Given the description of an element on the screen output the (x, y) to click on. 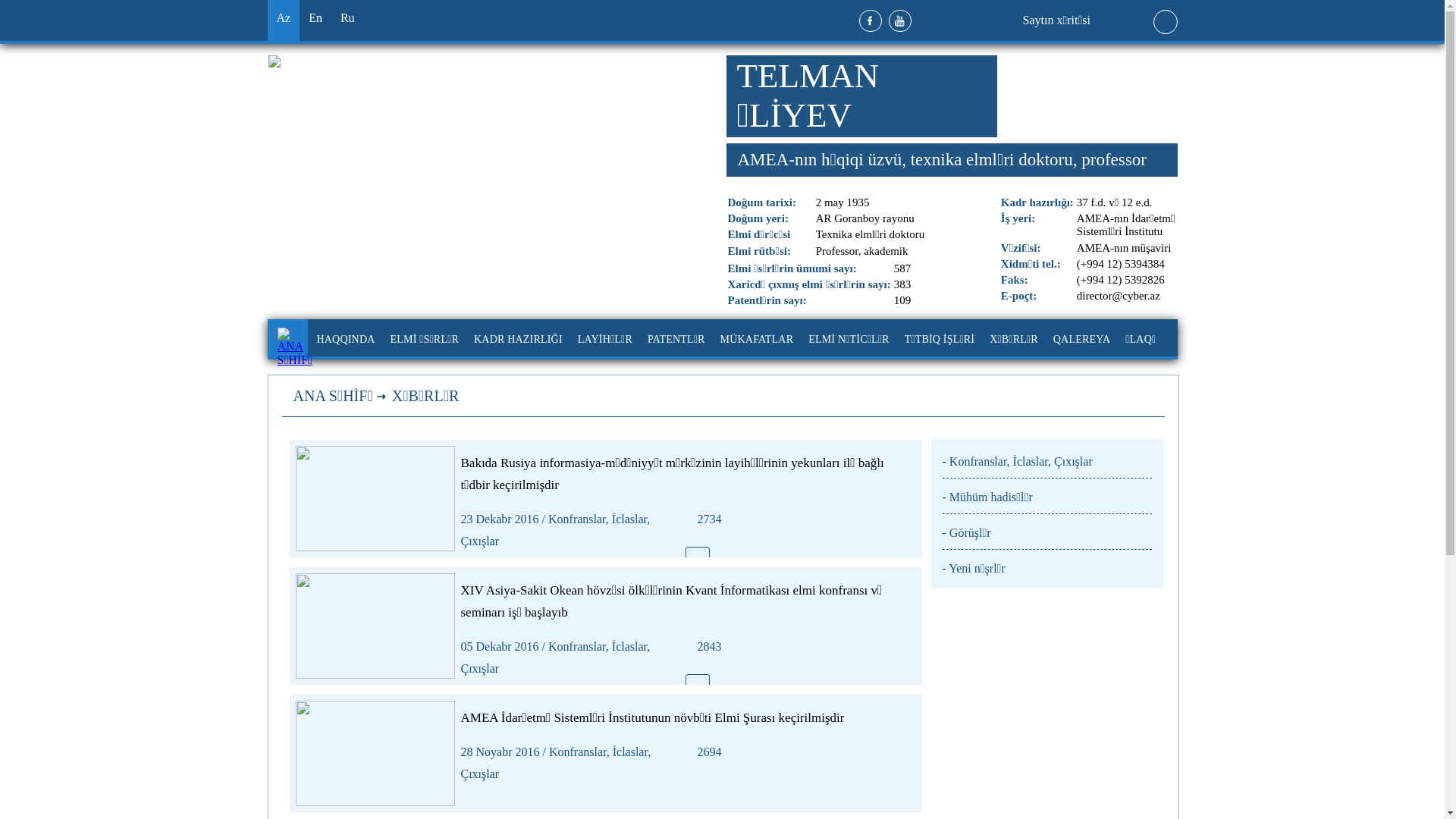
QALEREYA Element type: text (1081, 340)
Az Element type: text (282, 20)
Ru Element type: text (347, 20)
En Element type: text (315, 20)
HAQQINDA Element type: text (344, 340)
